Given the description of an element on the screen output the (x, y) to click on. 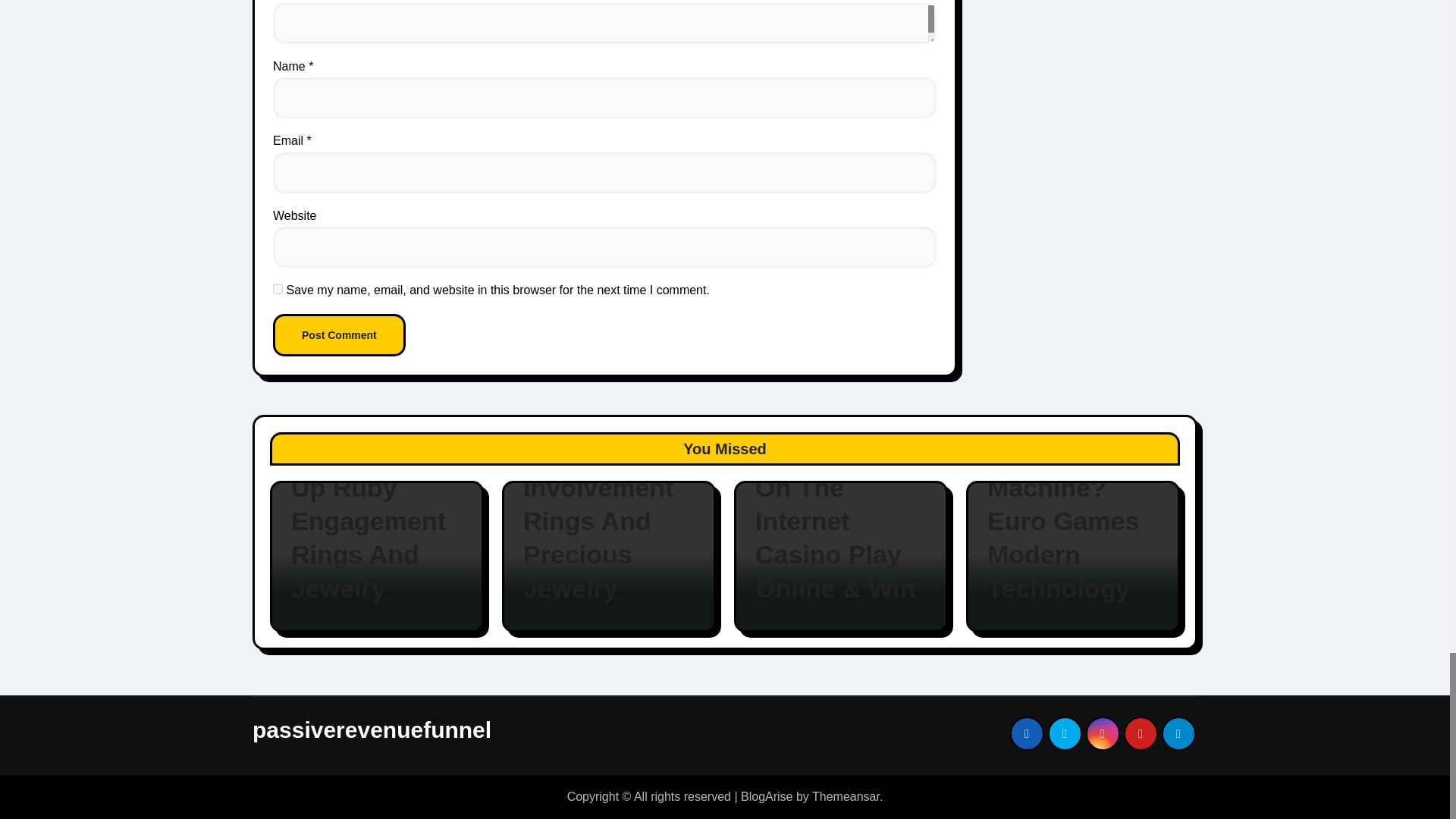
yes (277, 289)
Permalink to: Lab Grown Up Ruby Engagement Rings And Jewelry (377, 521)
Post Comment (339, 334)
